Given the description of an element on the screen output the (x, y) to click on. 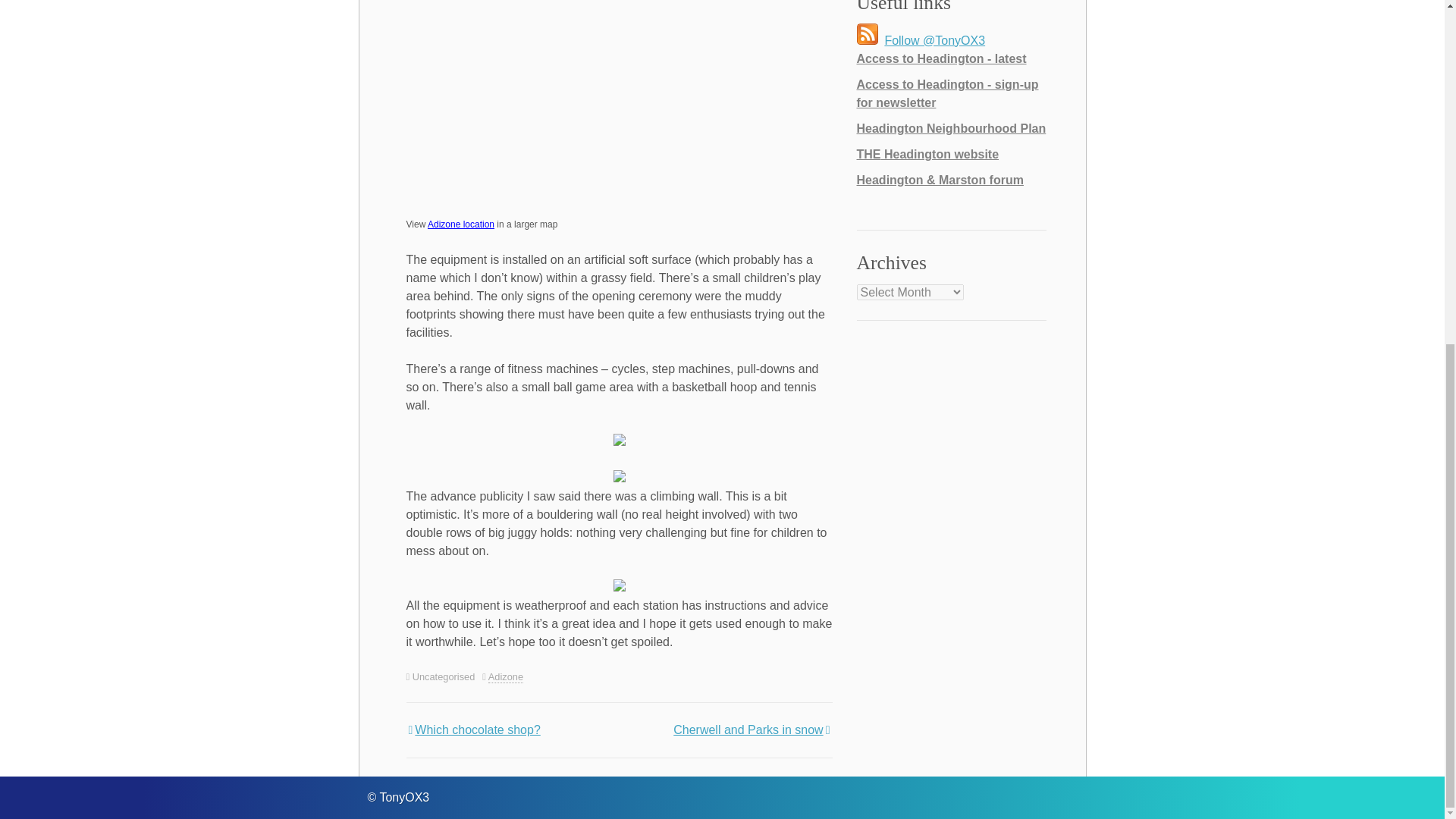
Cherwell and Parks in snow (751, 729)
Adizone (504, 676)
Adizone location (461, 224)
Which chocolate shop? (473, 729)
